Given the description of an element on the screen output the (x, y) to click on. 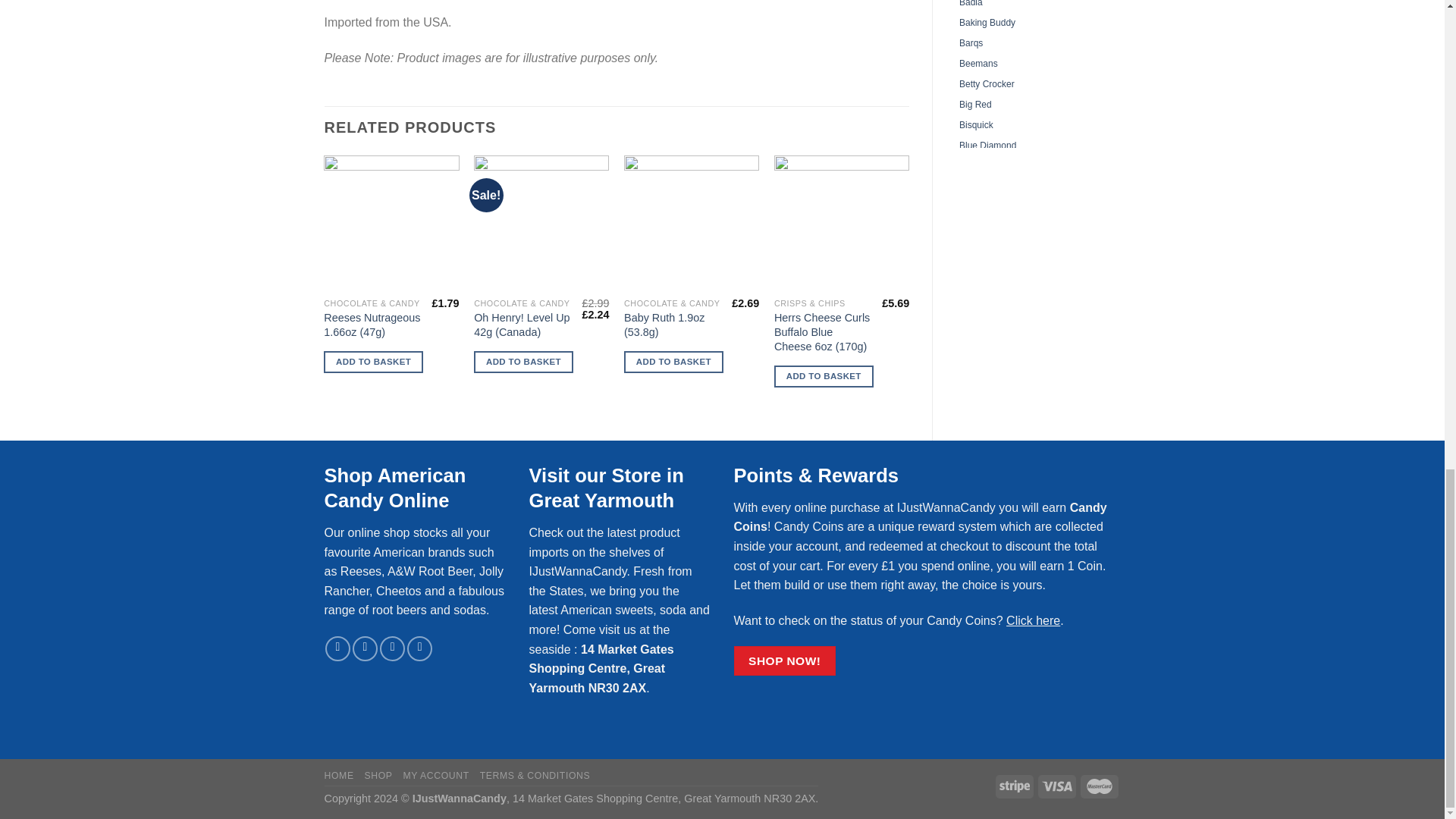
Follow on Facebook (337, 648)
Send us an email (392, 648)
Call us (419, 648)
Follow on Instagram (364, 648)
